Given the description of an element on the screen output the (x, y) to click on. 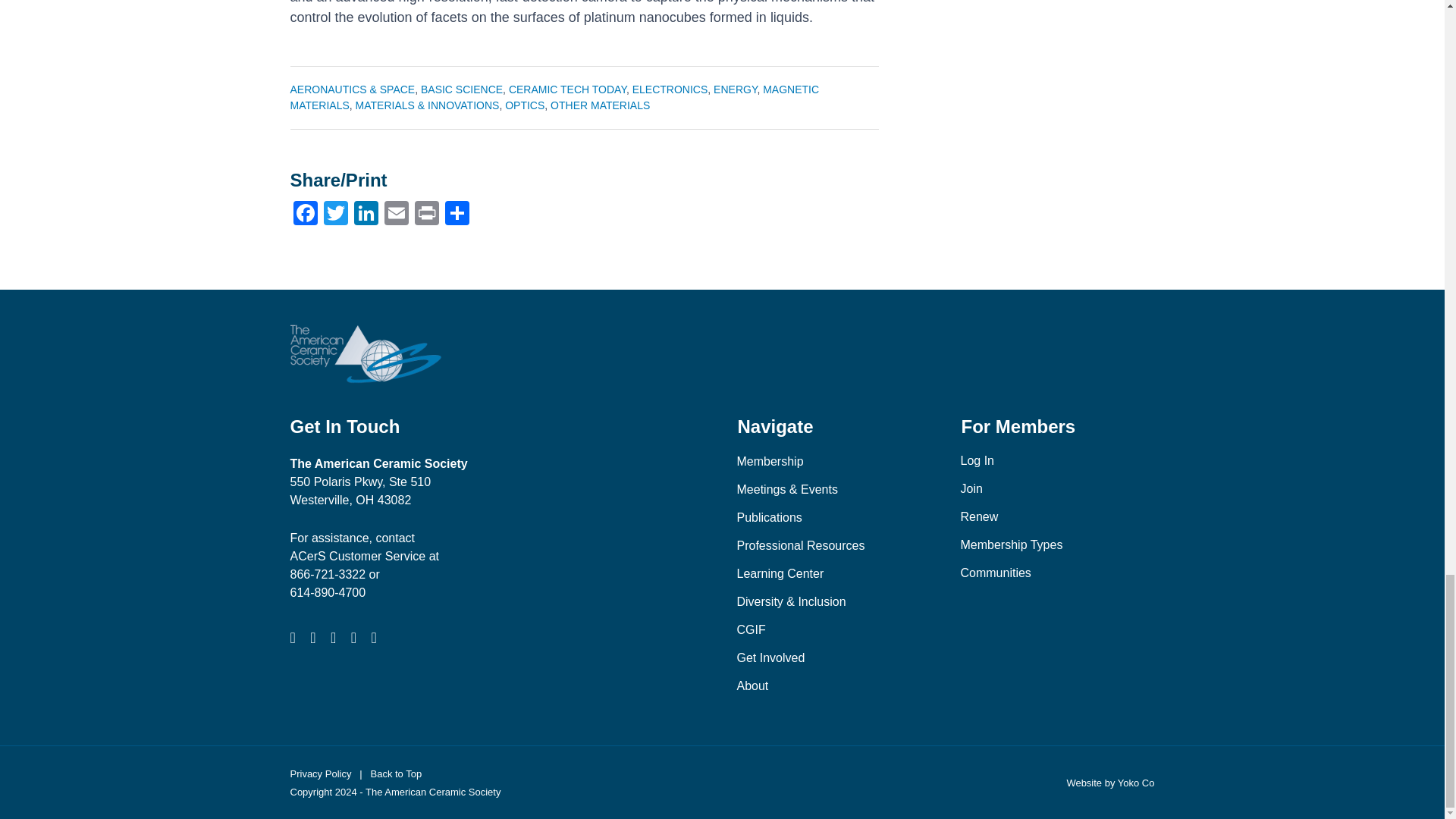
Print (425, 214)
LinkedIn (365, 214)
Email (395, 214)
Twitter (335, 214)
Facebook (304, 214)
